Given the description of an element on the screen output the (x, y) to click on. 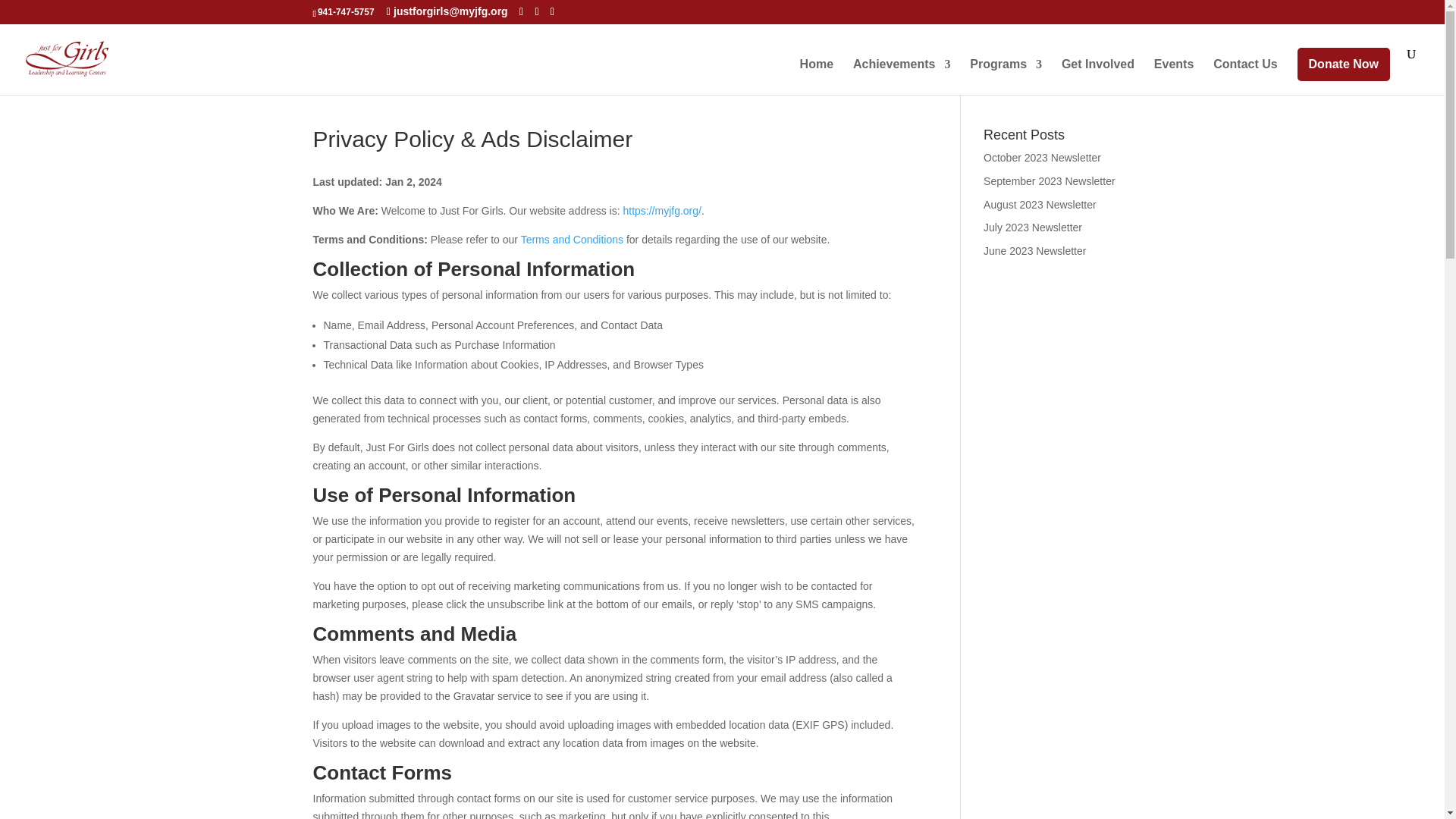
Terms and Conditions (572, 239)
Events (1173, 76)
Achievements (901, 76)
September 2023 Newsletter (1049, 181)
October 2023 Newsletter (1042, 157)
Home (815, 76)
Programs (1005, 76)
Contact Us (1244, 76)
July 2023 Newsletter (1032, 227)
June 2023 Newsletter (1035, 250)
Donate Now (1343, 64)
Get Involved (1097, 76)
August 2023 Newsletter (1040, 204)
